Given the description of an element on the screen output the (x, y) to click on. 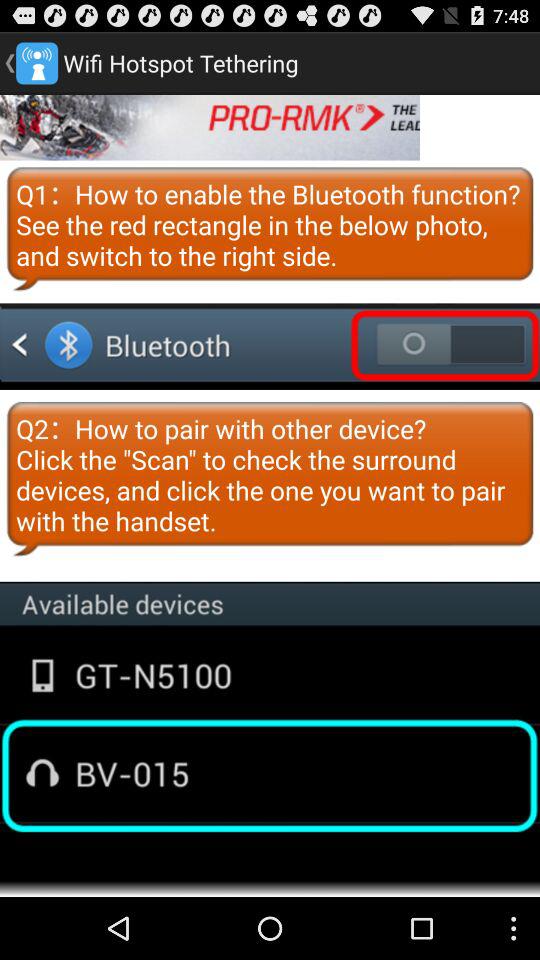
advertisement for pro rmk (210, 127)
